Given the description of an element on the screen output the (x, y) to click on. 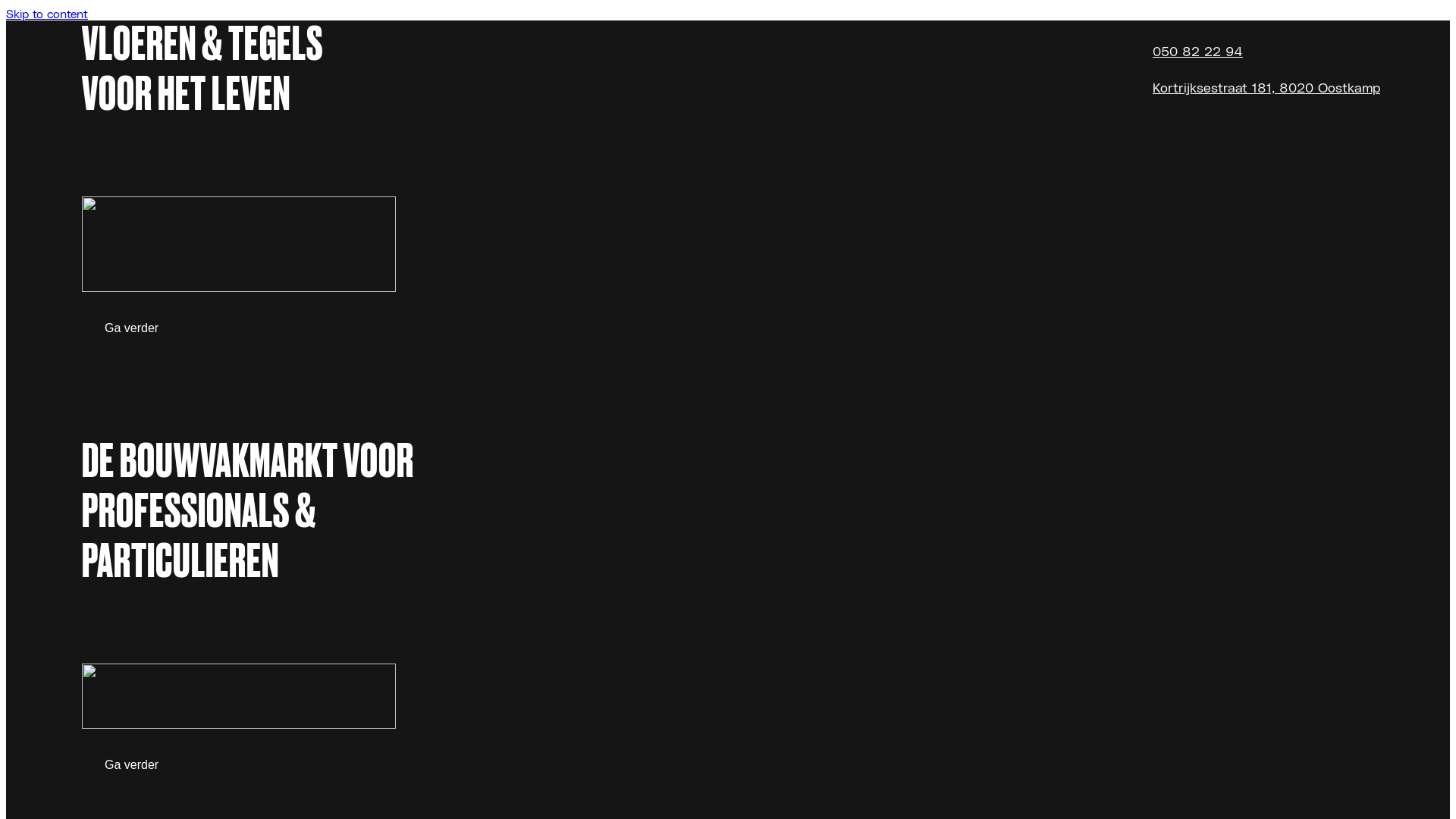
Kortrijksestraat 181, 8020 Oostkamp Element type: text (1266, 86)
Skip to content Element type: text (46, 13)
050 82 22 94 Element type: text (1197, 50)
